Given the description of an element on the screen output the (x, y) to click on. 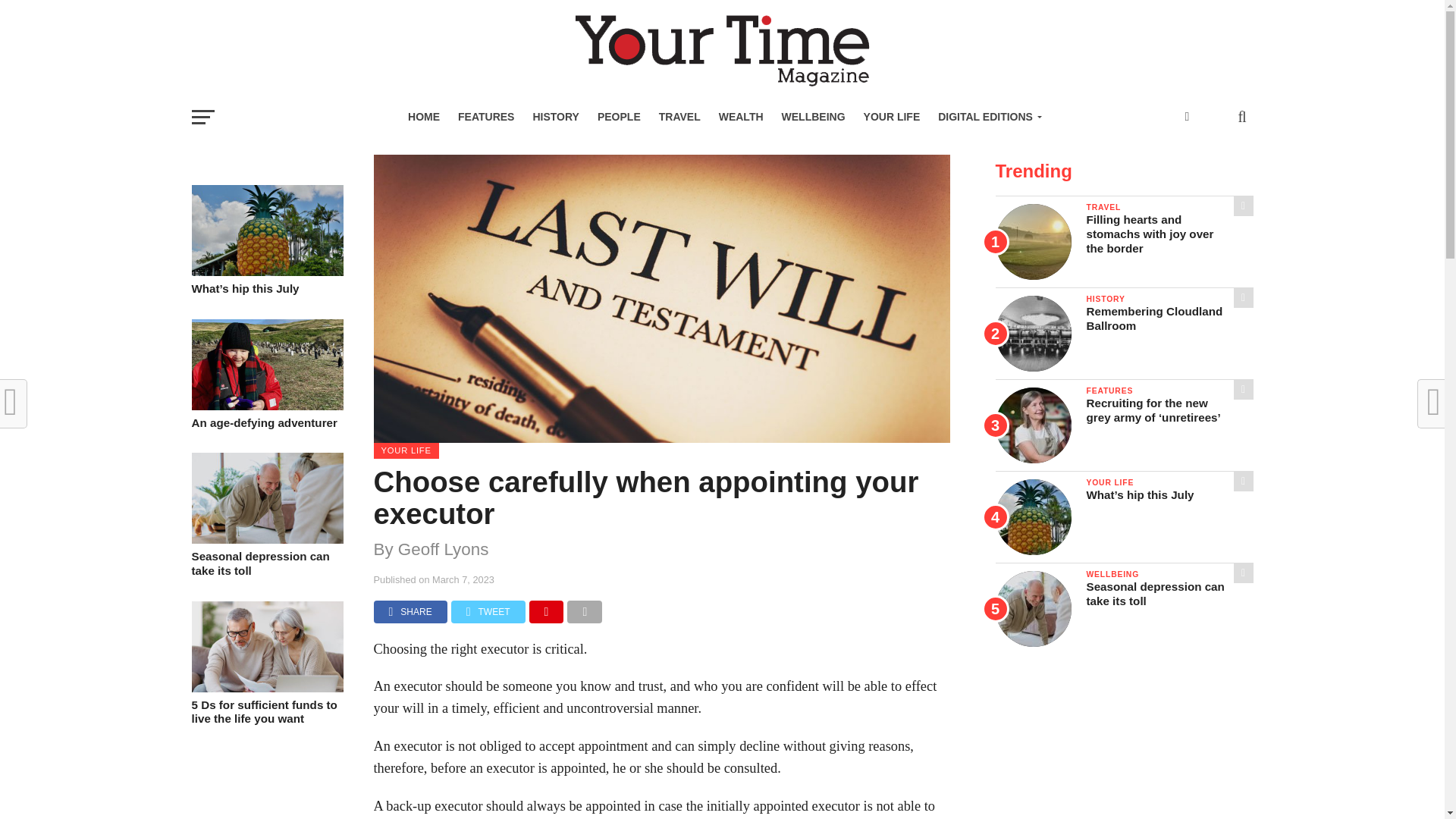
DIGITAL EDITIONS (986, 116)
Seasonal depression can take its toll (266, 539)
5 Ds for sufficient funds to live the life you want (266, 687)
TRAVEL (679, 116)
HISTORY (555, 116)
WELLBEING (813, 116)
YOUR LIFE (892, 116)
FEATURES (485, 116)
WEALTH (741, 116)
HOME (423, 116)
Seasonal depression can take its toll (266, 563)
An age-defying adventurer (266, 405)
An age-defying adventurer (266, 423)
5 Ds for sufficient funds to live the life you want (266, 712)
PEOPLE (618, 116)
